Given the description of an element on the screen output the (x, y) to click on. 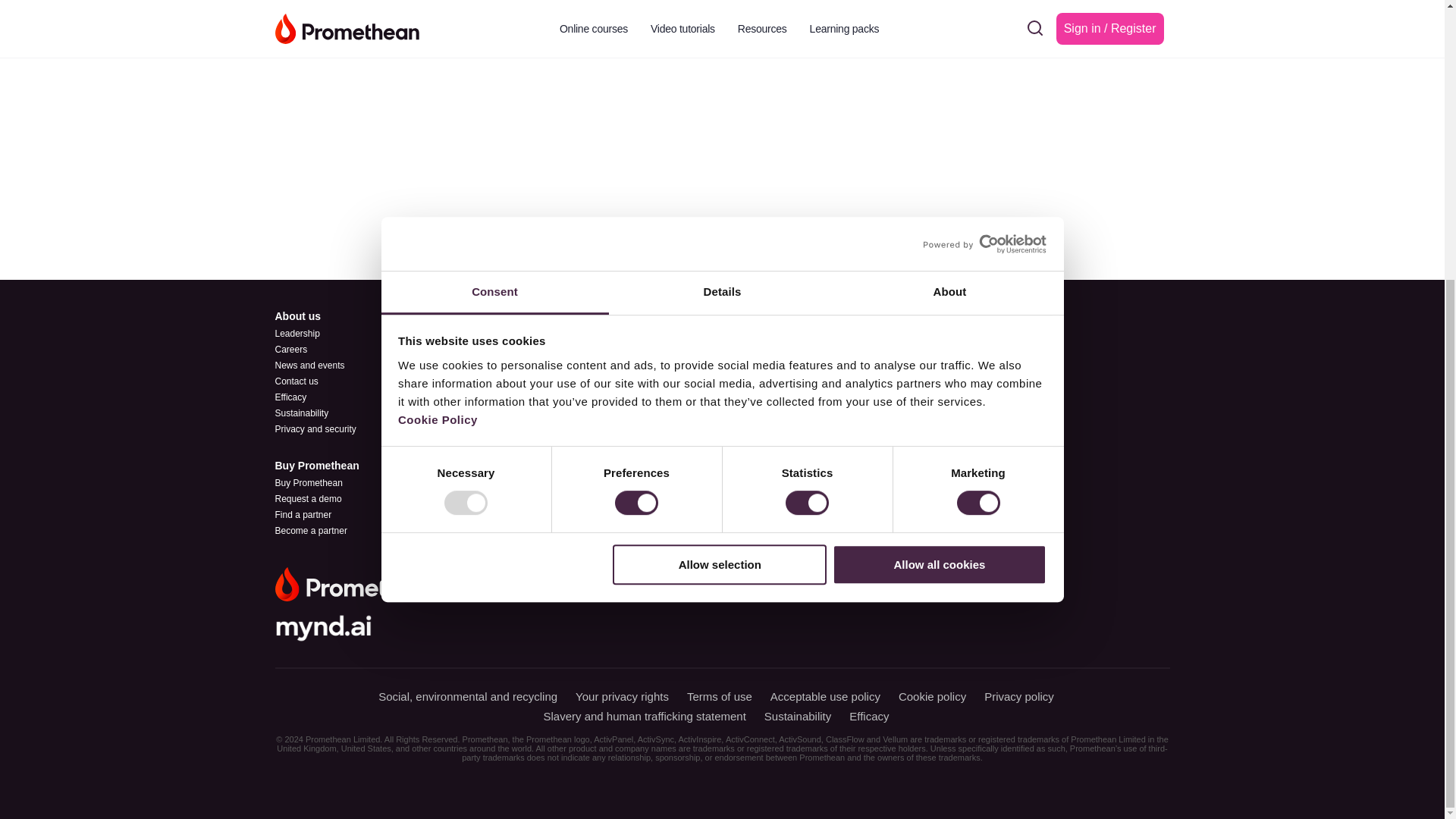
Cookie Policy (437, 4)
